Given the description of an element on the screen output the (x, y) to click on. 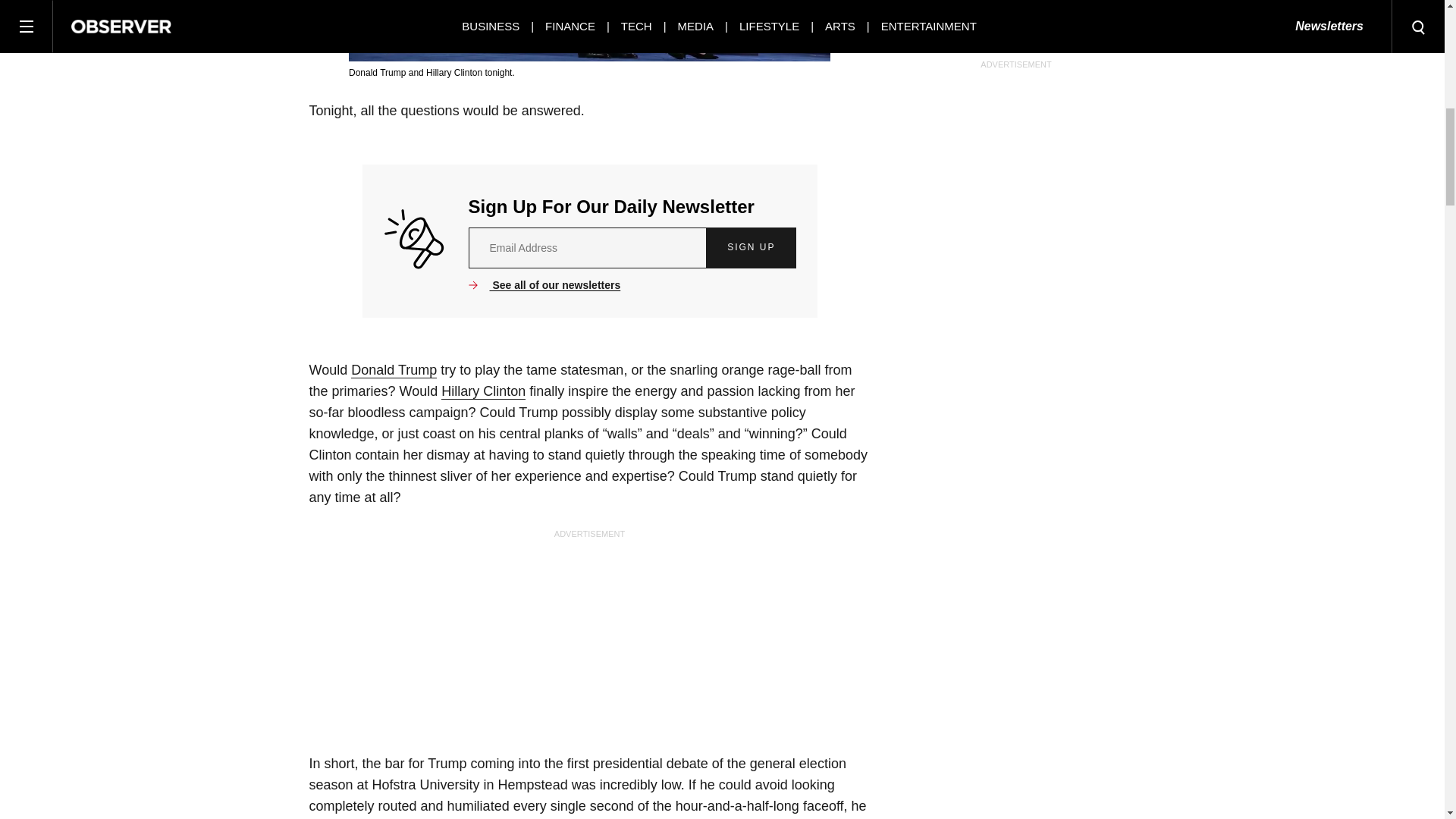
Donald Trump (393, 370)
Hillary Clinton (483, 391)
